Given the description of an element on the screen output the (x, y) to click on. 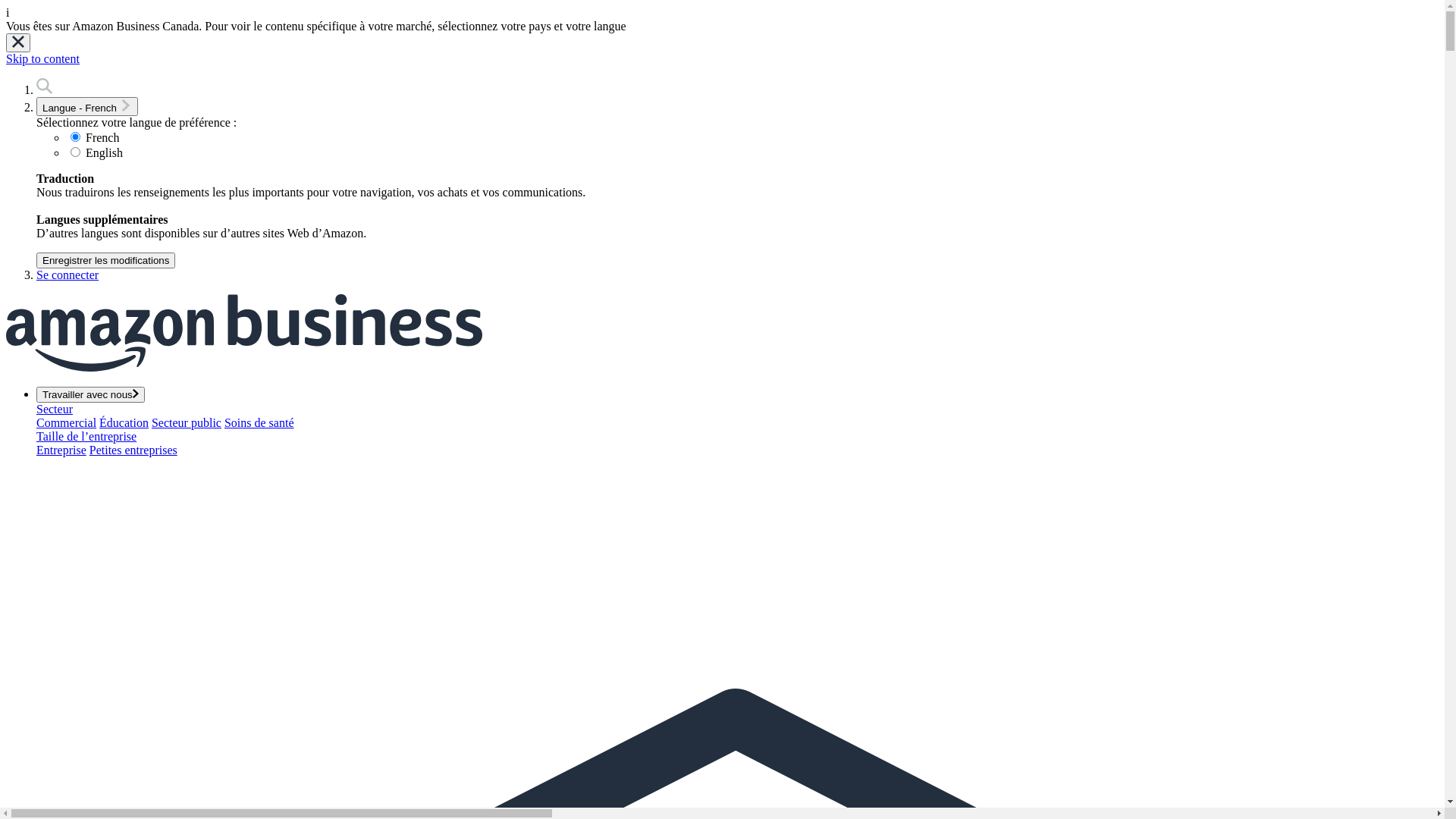
Skip to content Element type: text (42, 58)
Petites entreprises Element type: text (133, 449)
Entreprise Element type: text (61, 449)
Modal Close Element type: text (18, 42)
Langue - French Drop down Element type: text (87, 106)
Enregistrer les modifications Element type: text (105, 260)
Secteur Element type: text (54, 408)
Se connecter Element type: text (67, 274)
Secteur public Element type: text (186, 422)
Commercial Element type: text (66, 422)
Travailler avec nous Drop down Element type: text (90, 394)
